Given the description of an element on the screen output the (x, y) to click on. 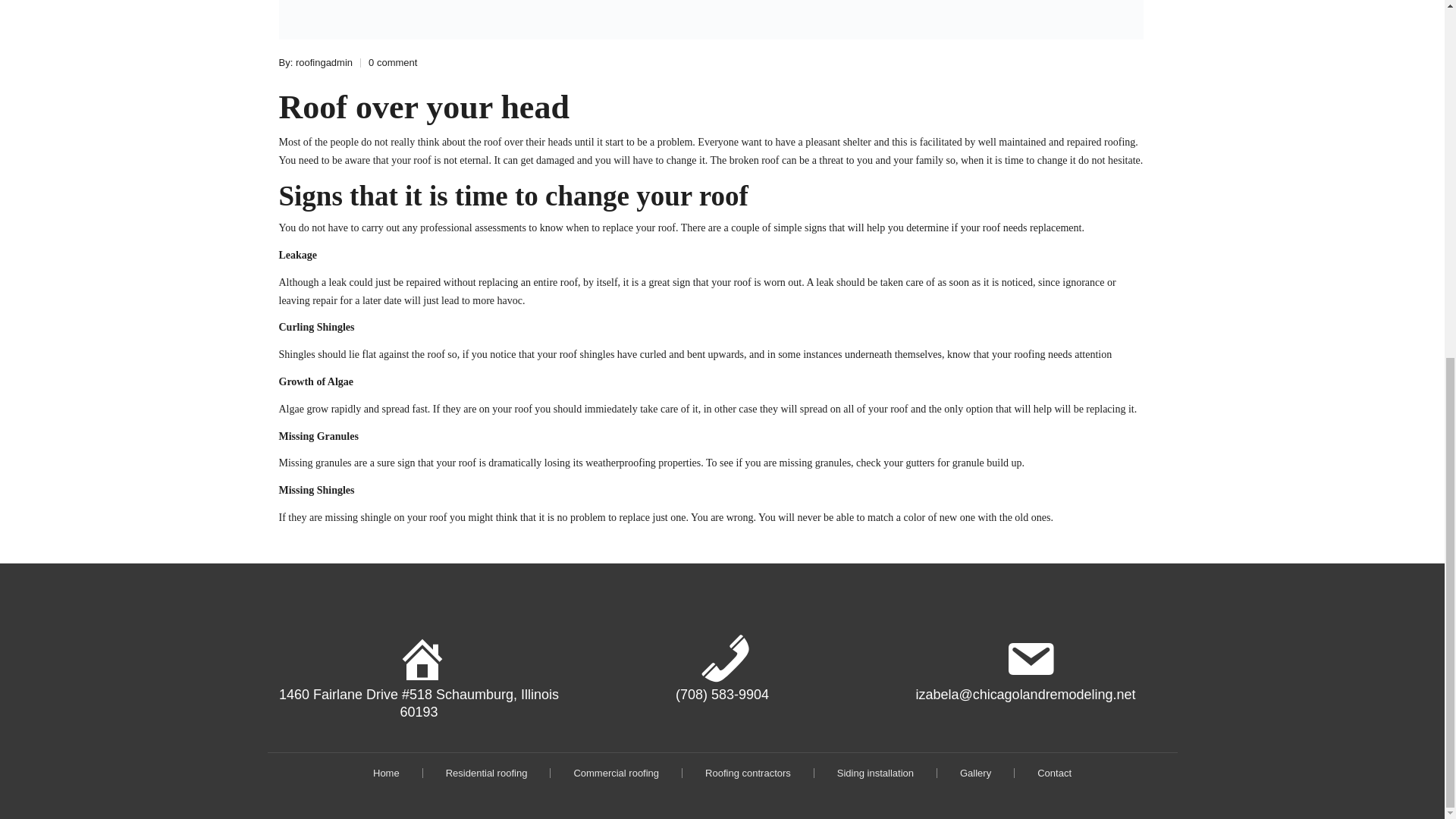
Roofing contractors (747, 772)
Gallery (975, 772)
Siding installation (875, 772)
Commercial roofing (616, 772)
Residential roofing (486, 772)
Contact (1053, 772)
Home (385, 772)
